Given the description of an element on the screen output the (x, y) to click on. 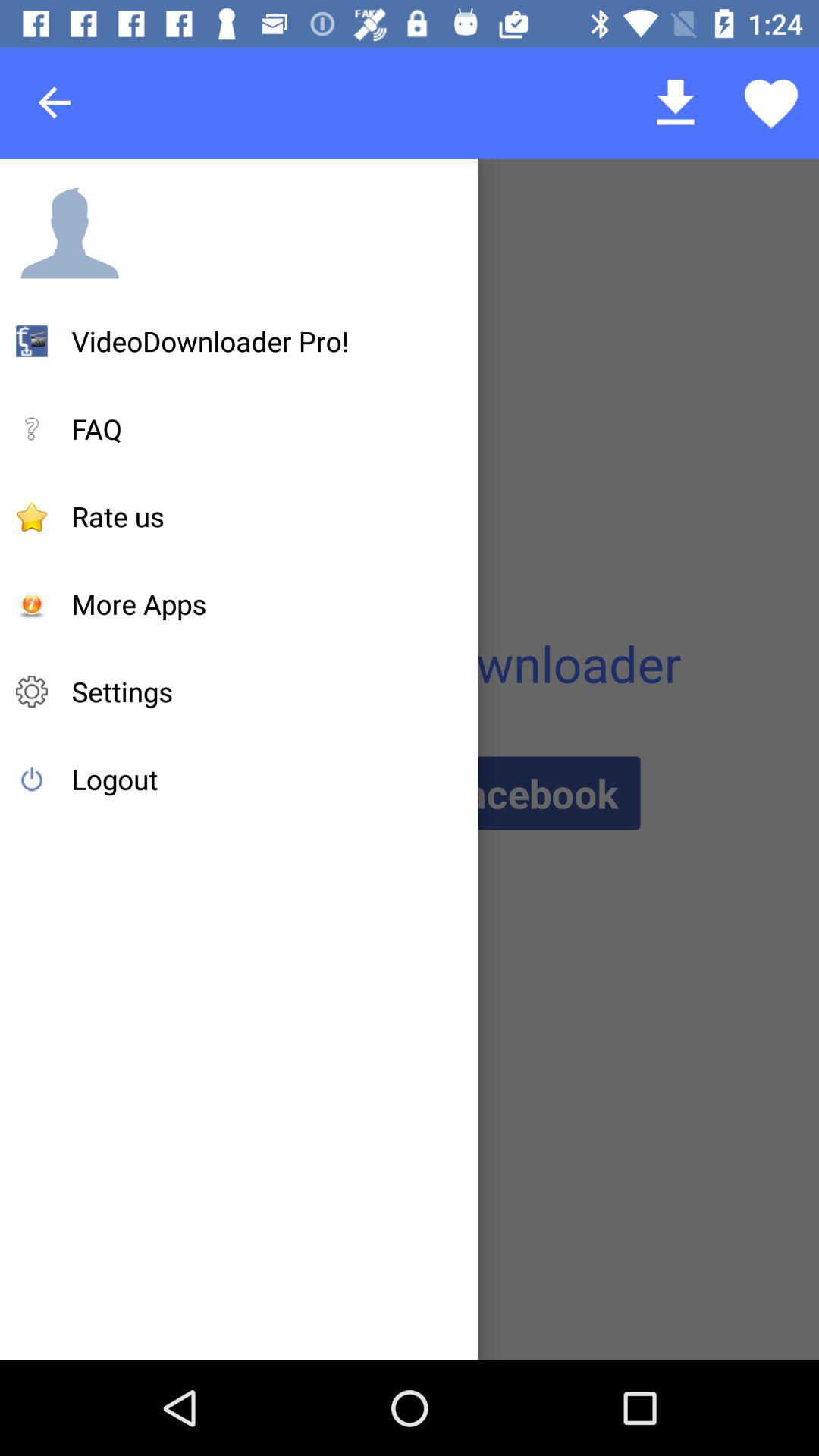
jump until the logout item (114, 778)
